Given the description of an element on the screen output the (x, y) to click on. 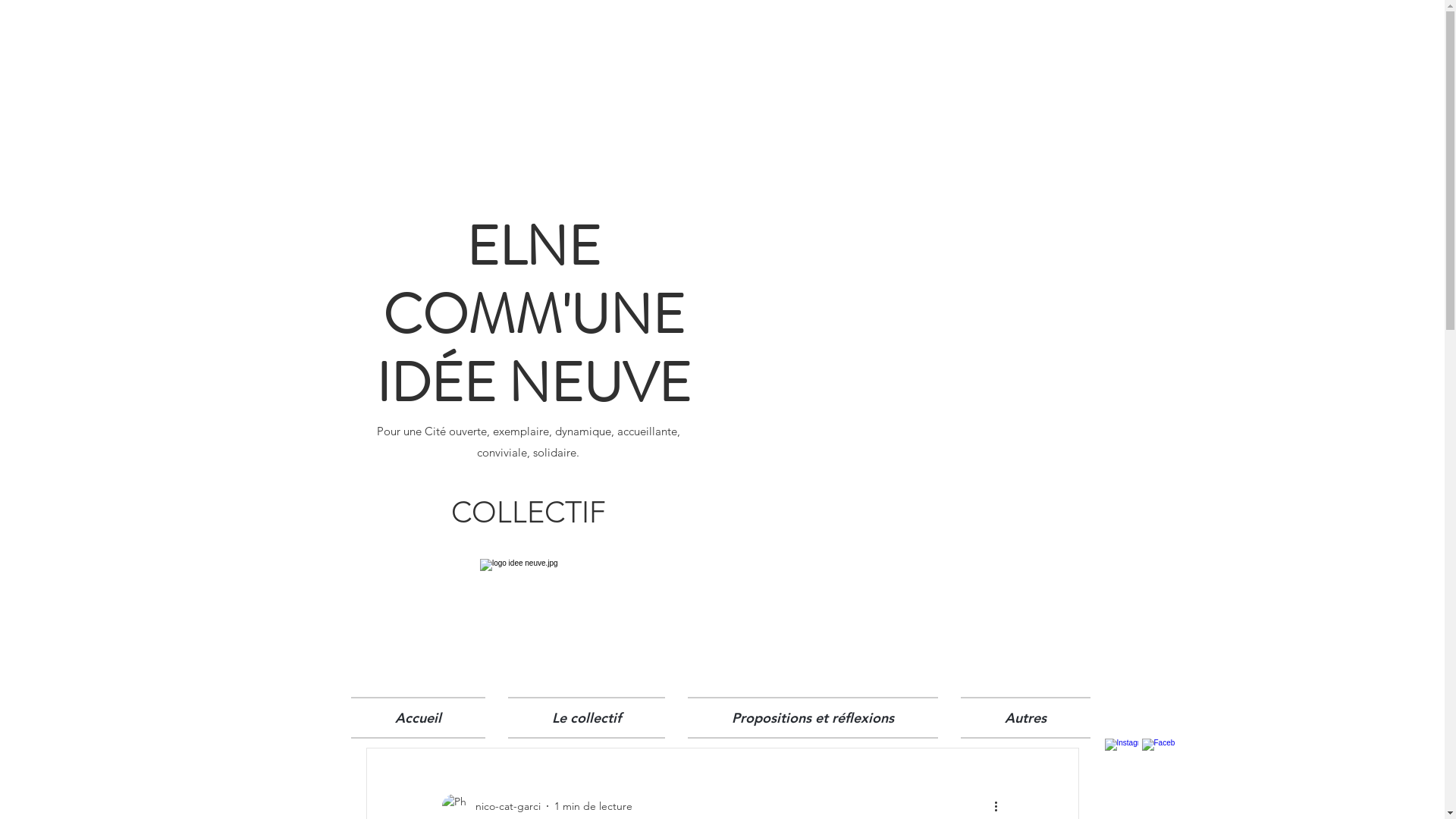
Autres Element type: text (1019, 717)
Le collectif Element type: text (585, 717)
Accueil Element type: text (422, 717)
nico-cat-garci Element type: text (490, 805)
